Given the description of an element on the screen output the (x, y) to click on. 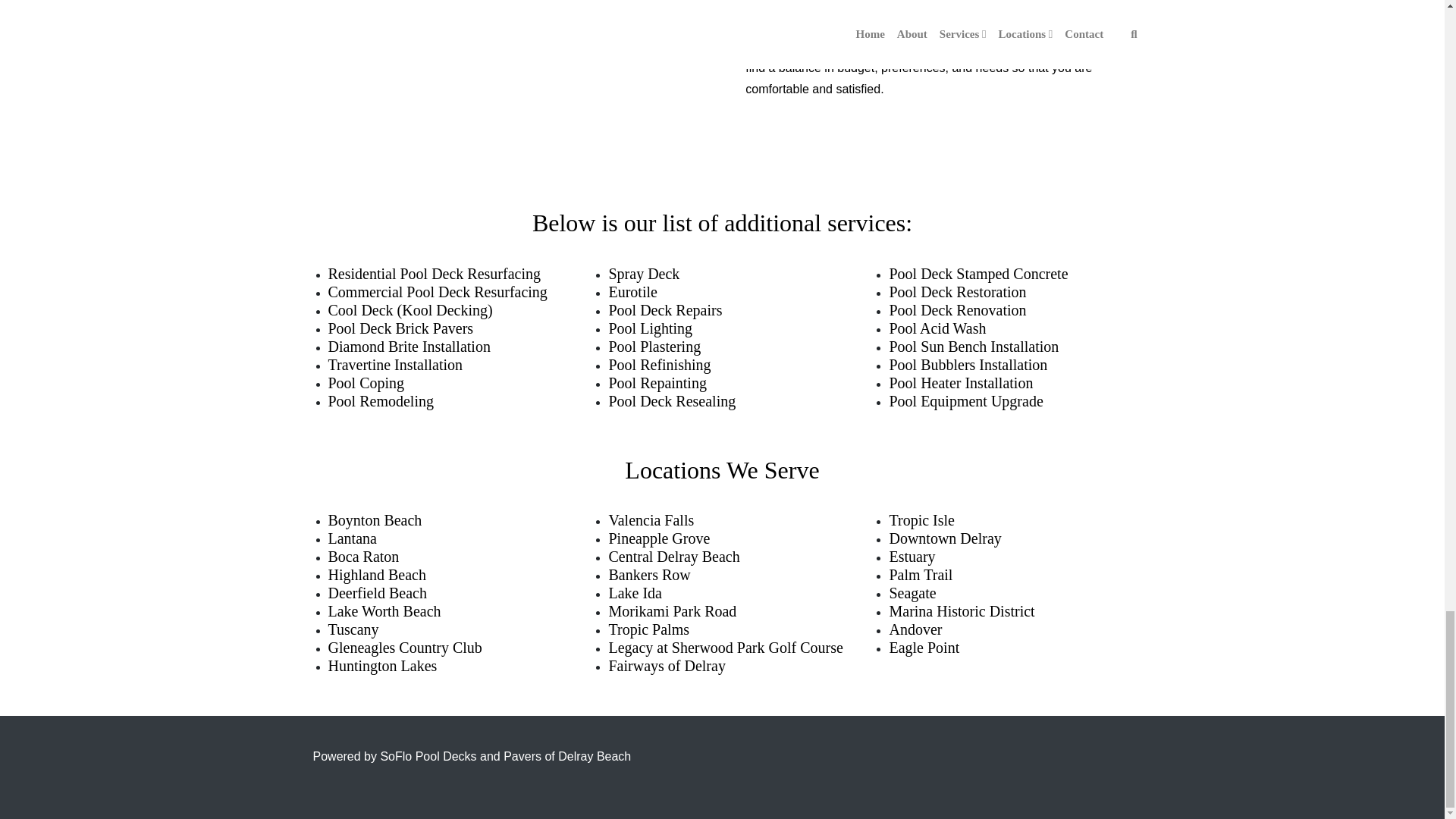
Pool Coping (365, 382)
Pool Deck Brick Pavers (400, 328)
Diamond Brite Installation (408, 346)
Commercial Pool Deck Resurfacing (437, 291)
Travertine Installation (395, 364)
Residential Pool Deck Resurfacing (433, 273)
Pool Remodeling (379, 401)
